Given the description of an element on the screen output the (x, y) to click on. 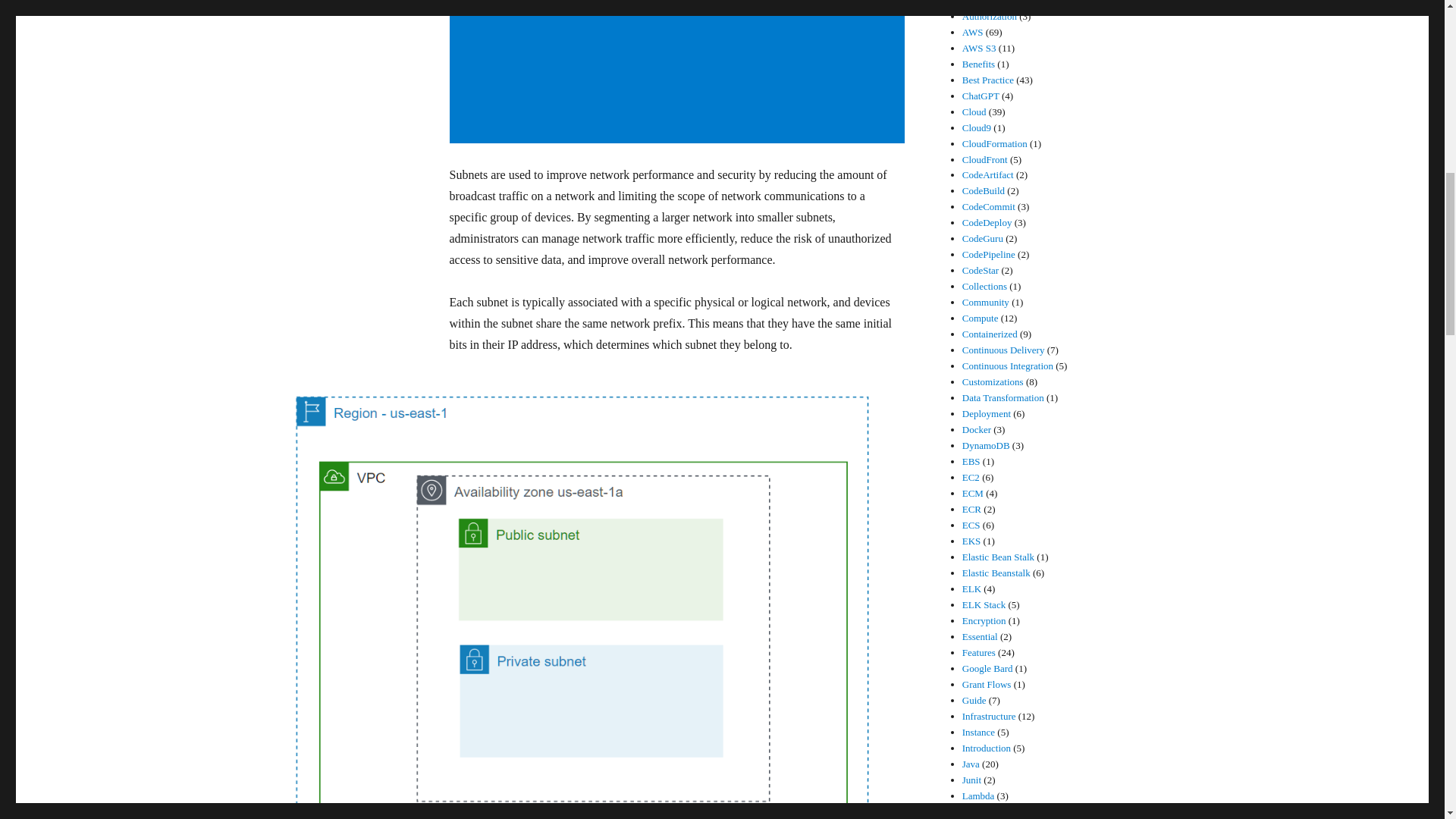
Authorization (989, 16)
Benefits (978, 63)
AWS S3 (978, 48)
Best Practice (987, 79)
AWS (973, 31)
Advertisement (679, 72)
Authentication (991, 2)
